Given the description of an element on the screen output the (x, y) to click on. 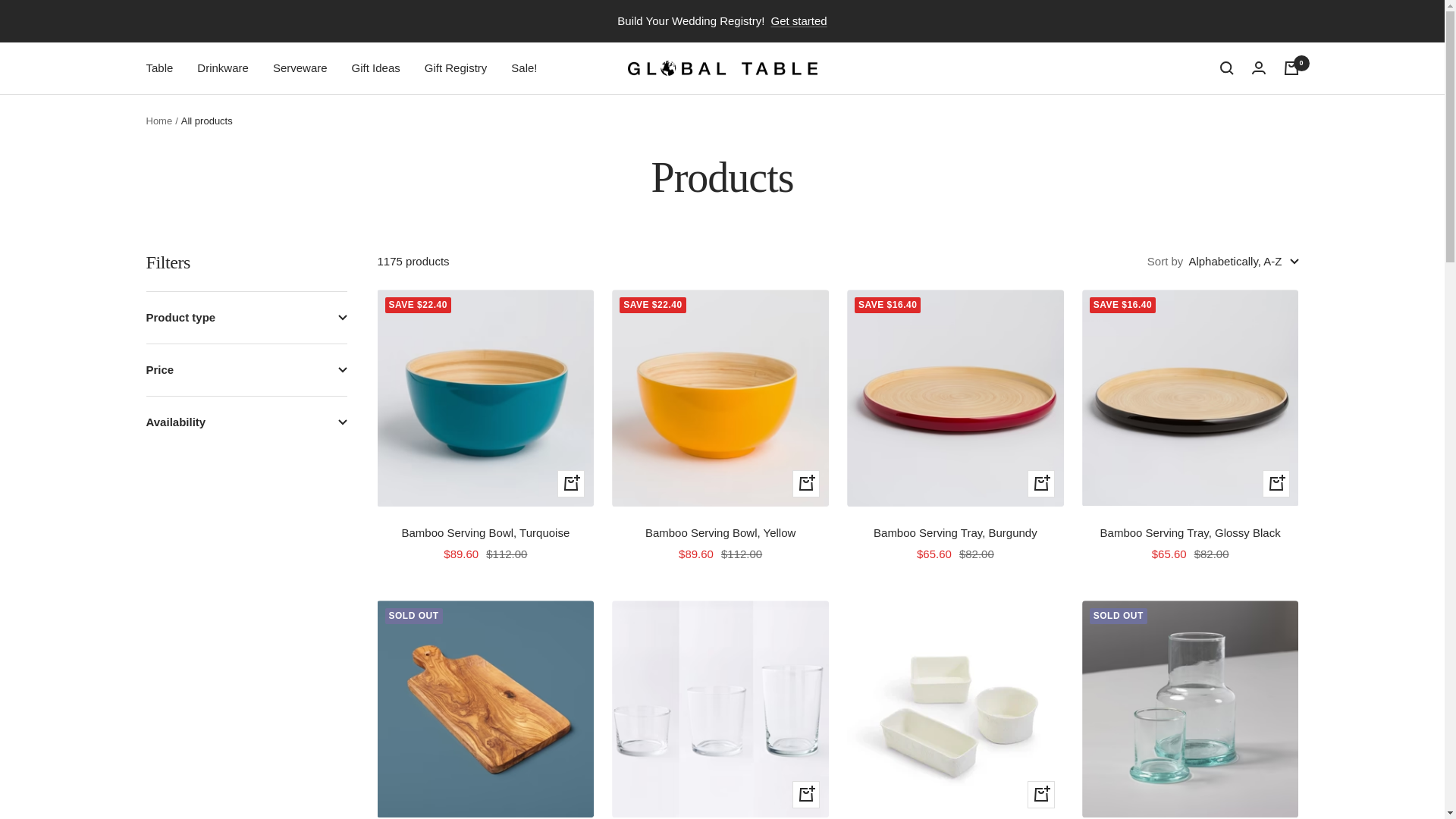
0 (1290, 68)
Price (245, 369)
Drinkware (222, 67)
Bamboo Serving Bowl, Yellow (719, 533)
Gift Registry (456, 67)
Bamboo Serving Tray, Burgundy (955, 533)
Bamboo Serving Bowl, Turquoise (485, 533)
Get started (798, 21)
Gift Ideas (376, 67)
Product type (245, 317)
Global Table (721, 68)
Availability (245, 421)
Sale! (524, 67)
Alphabetically, A-Z (1243, 261)
Table (159, 67)
